Given the description of an element on the screen output the (x, y) to click on. 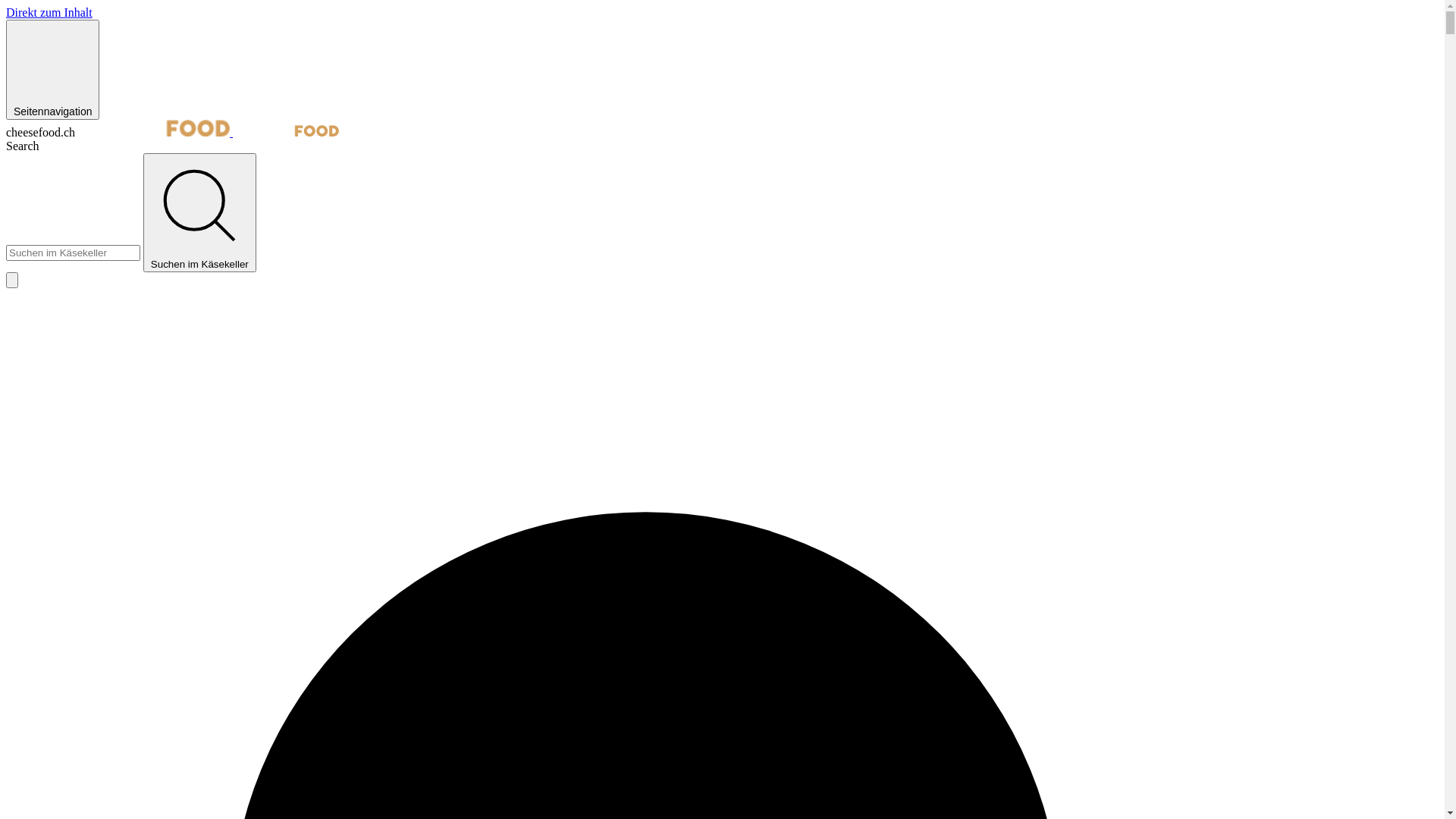
... Seitennavigation Element type: text (52, 69)
Direkt zum Inhalt Element type: text (49, 12)
